Given the description of an element on the screen output the (x, y) to click on. 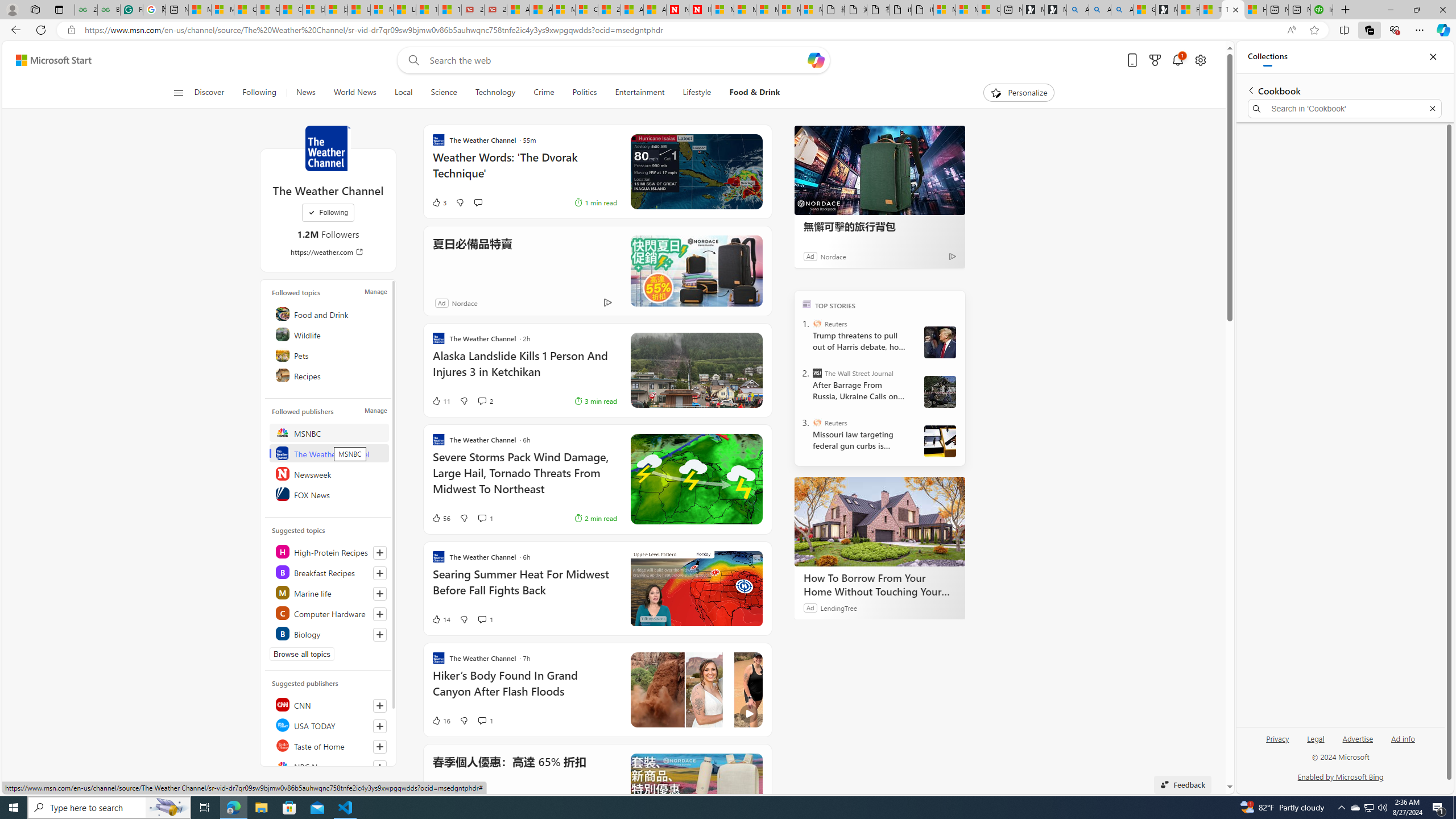
Back to list of collections (1250, 90)
Alabama high school quarterback dies - Search Videos (1122, 9)
The Wall Street Journal (816, 372)
View comments 2 Comment (481, 400)
Food and Drink (328, 313)
11 Like (440, 400)
MSNBC (328, 432)
Lifestyle - MSN (404, 9)
